Given the description of an element on the screen output the (x, y) to click on. 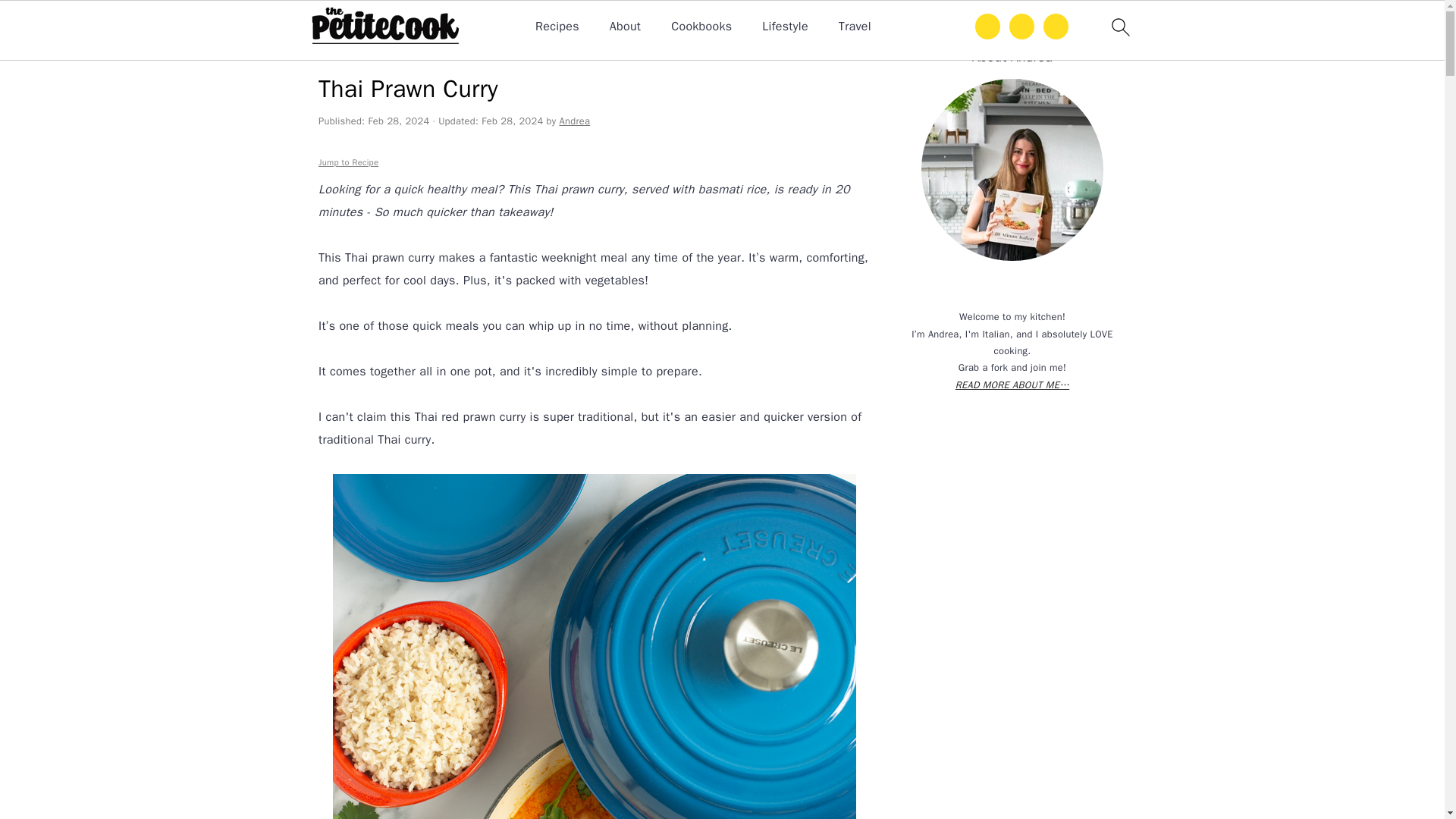
Jump to Recipe (348, 162)
Travel (854, 26)
Recipes (557, 26)
Lifestyle (784, 26)
Cookbooks (701, 26)
search icon (1119, 26)
About (625, 26)
